Given the description of an element on the screen output the (x, y) to click on. 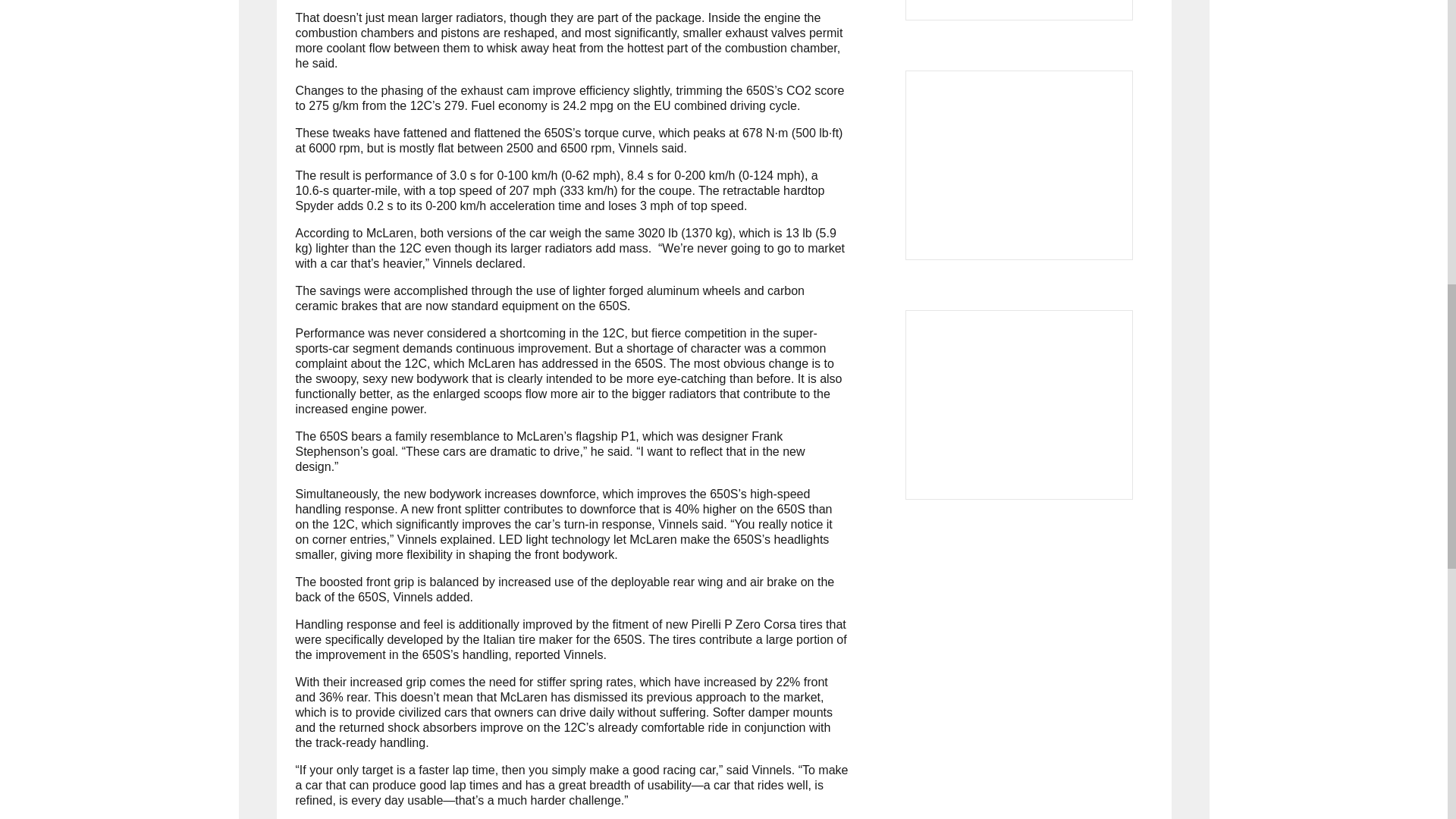
3rd party ad content (1019, 166)
3rd party ad content (1019, 405)
3rd party ad content (1019, 10)
